Given the description of an element on the screen output the (x, y) to click on. 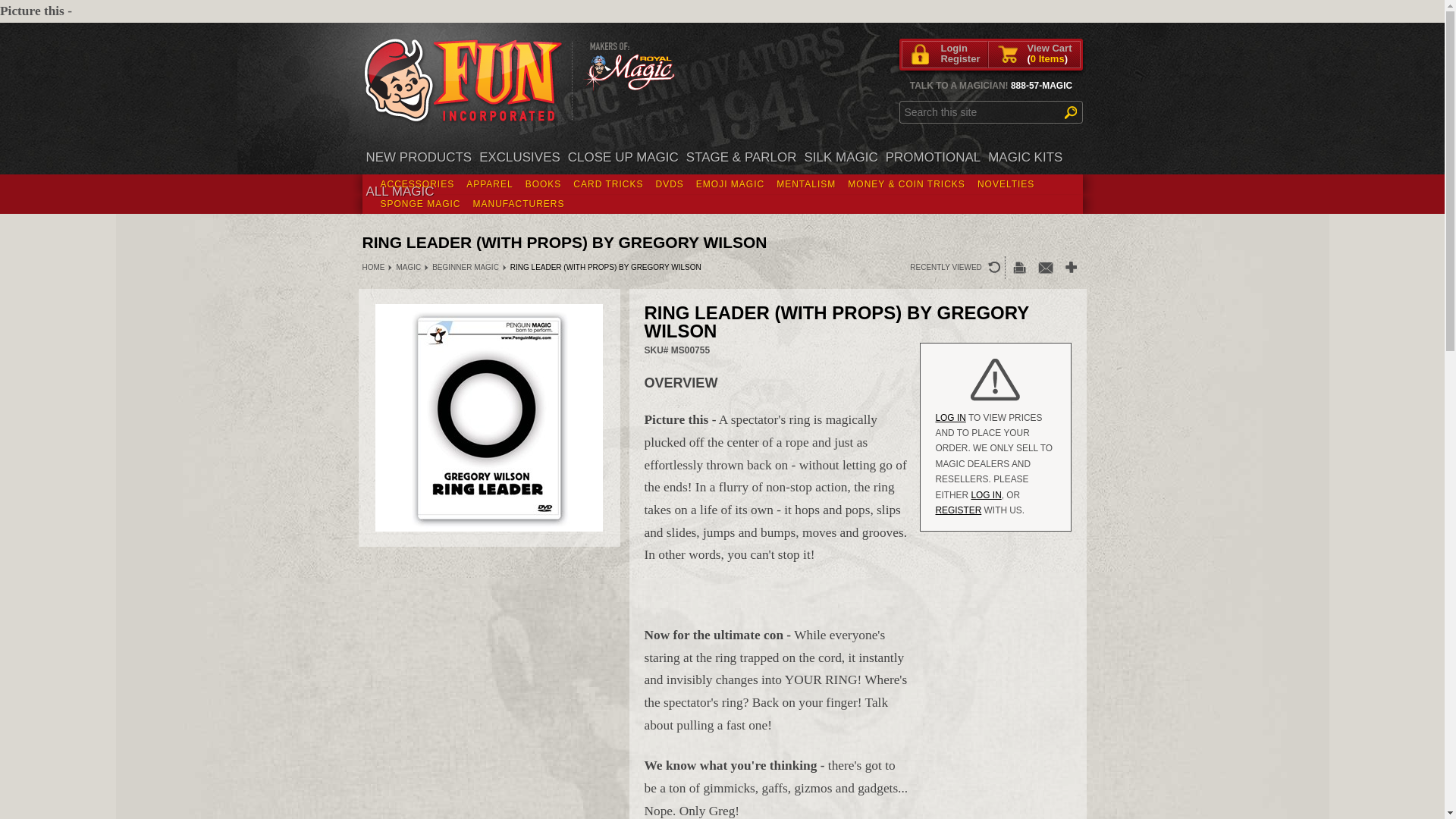
SILK MAGIC (839, 157)
Royal Magic (631, 62)
CLOSE UP MAGIC (623, 157)
Login (959, 48)
NEW PRODUCTS (419, 157)
EMOJI MAGIC (730, 184)
EXCLUSIVES (520, 157)
ACCESSORIES (417, 184)
BOOKS (543, 184)
PROMOTIONAL (933, 157)
